Given the description of an element on the screen output the (x, y) to click on. 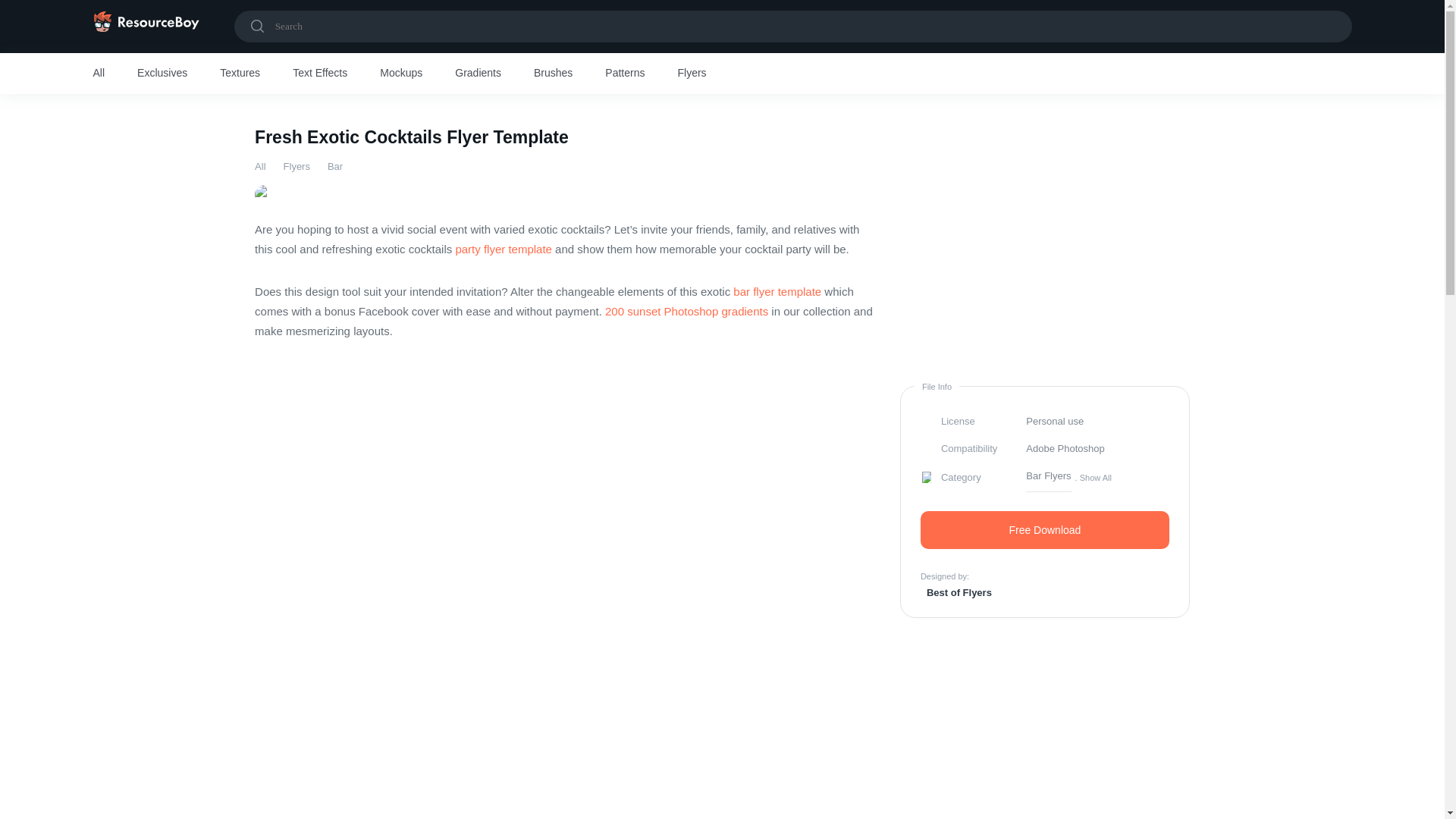
Best of Flyers (955, 591)
Text Effects (319, 73)
. Show All (1093, 476)
Patterns (625, 73)
Bar (334, 165)
Mockups (401, 73)
party flyer template (502, 248)
200 sunset Photoshop gradients (686, 310)
Free Download (1044, 529)
Flyers (296, 165)
